Given the description of an element on the screen output the (x, y) to click on. 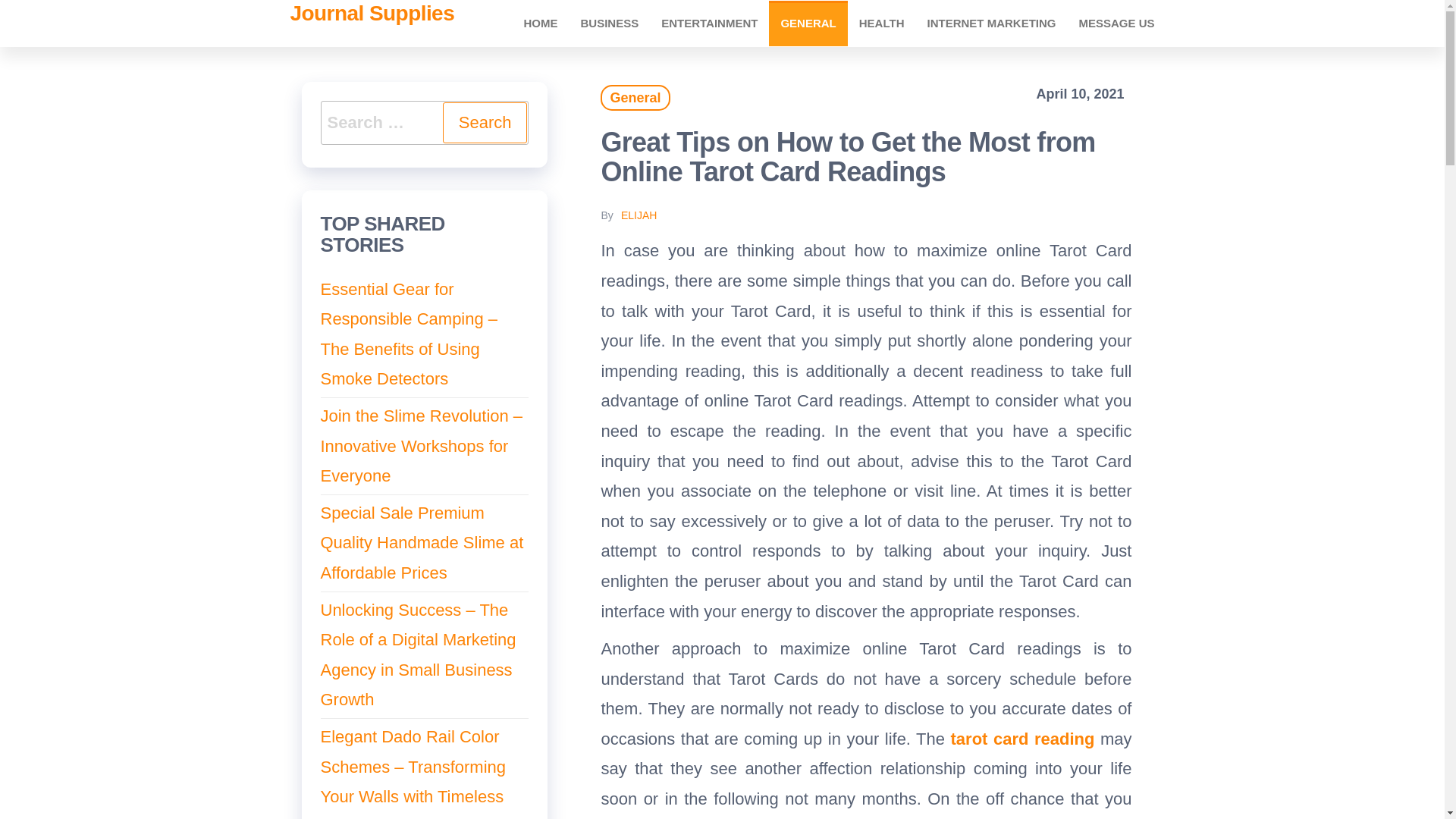
HOME (540, 22)
INTERNET MARKETING (991, 22)
BUSINESS (609, 22)
tarot card reading (1022, 738)
ELIJAH (638, 215)
Home (540, 22)
Internet Marketing (991, 22)
GENERAL (807, 22)
Entertainment (708, 22)
MESSAGE US (1116, 22)
Business (609, 22)
HEALTH (881, 22)
Journal Supplies (371, 13)
Search (484, 122)
Search (484, 122)
